Given the description of an element on the screen output the (x, y) to click on. 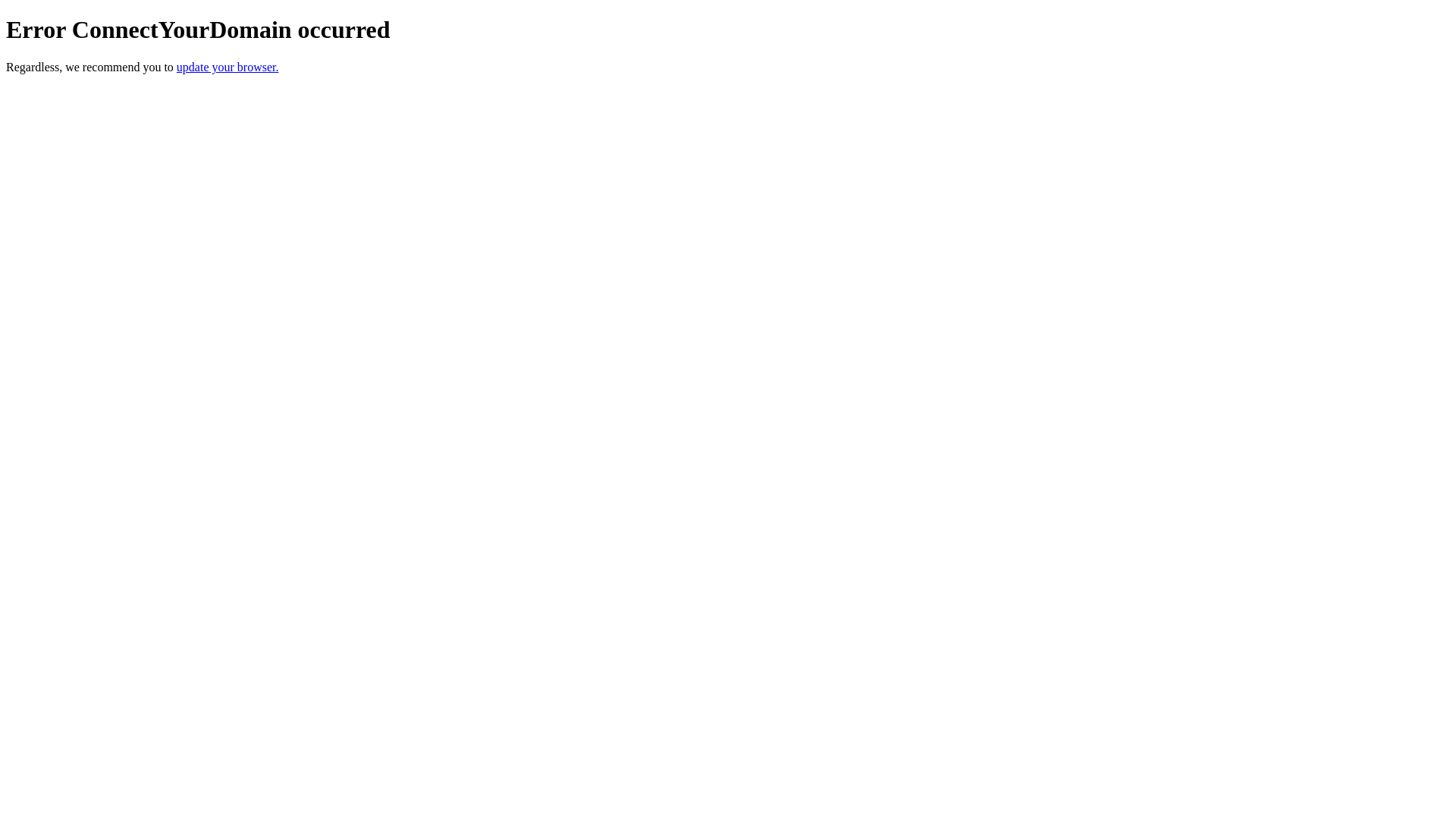
update your browser. Element type: text (227, 66)
